Given the description of an element on the screen output the (x, y) to click on. 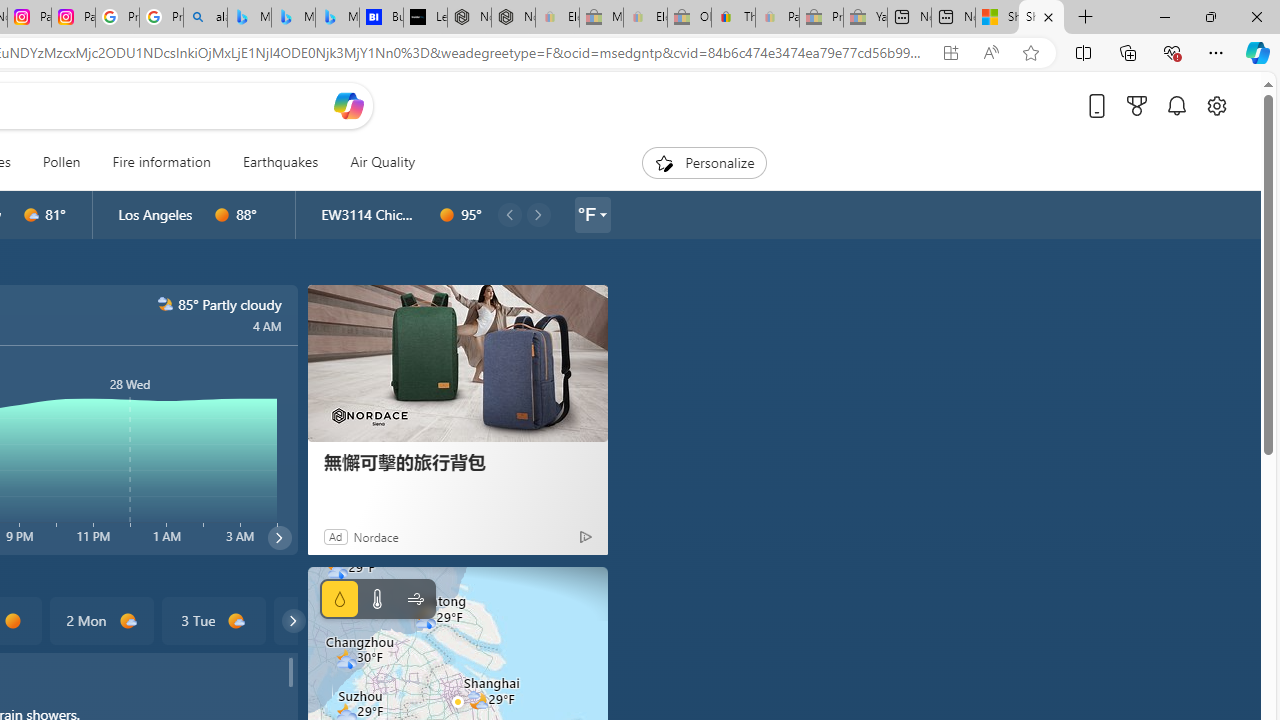
d1000 (235, 621)
2 Mon d1000 (100, 620)
Threats and offensive language policy | eBay (733, 17)
App available. Install Microsoft Start Weather (950, 53)
Payments Terms of Use | eBay.com - Sleeping (777, 17)
